Given the description of an element on the screen output the (x, y) to click on. 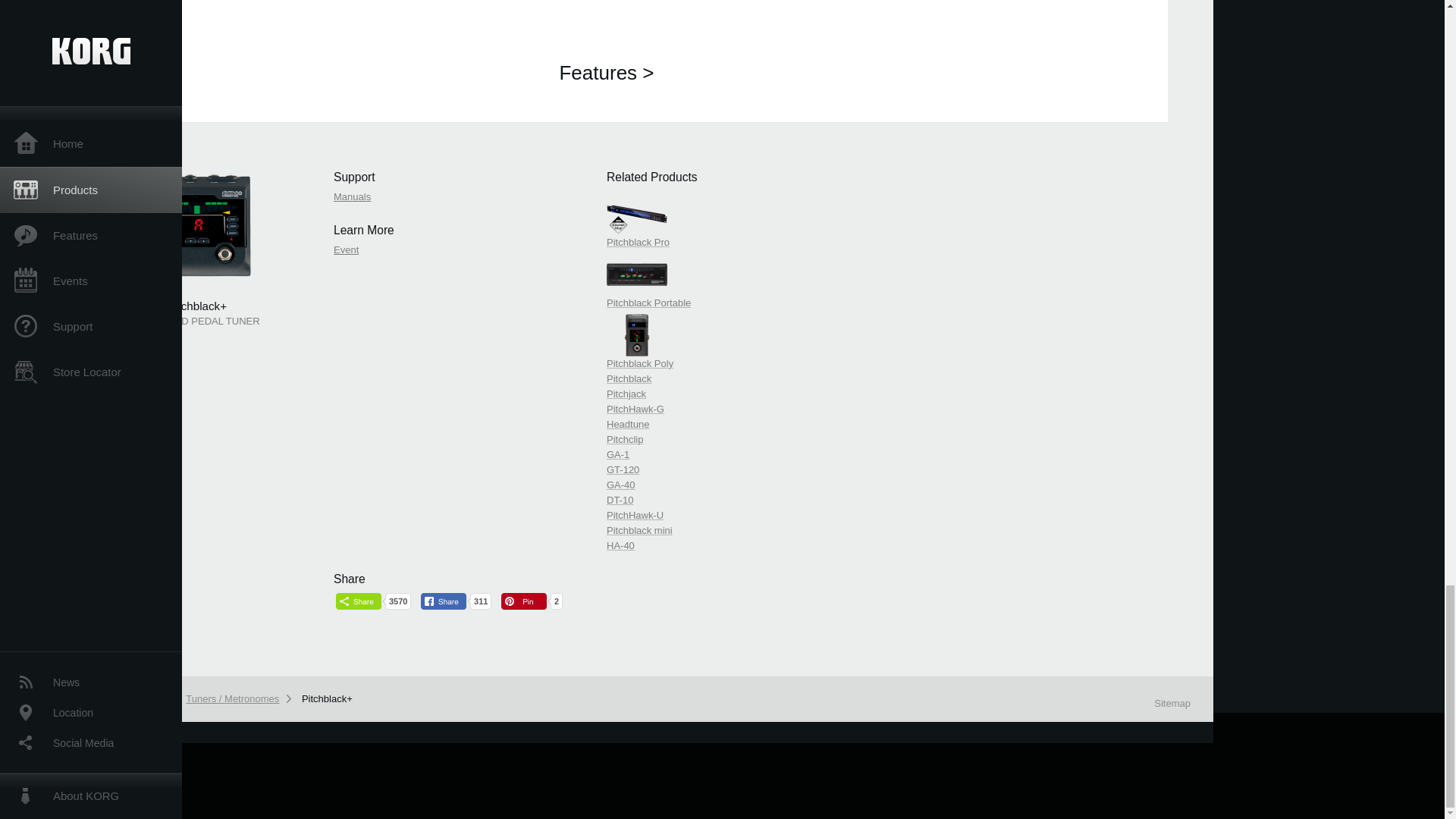
Manuals (352, 196)
Pitchblack Pro (712, 219)
Pitchblack Portable (712, 279)
Event (345, 249)
